Given the description of an element on the screen output the (x, y) to click on. 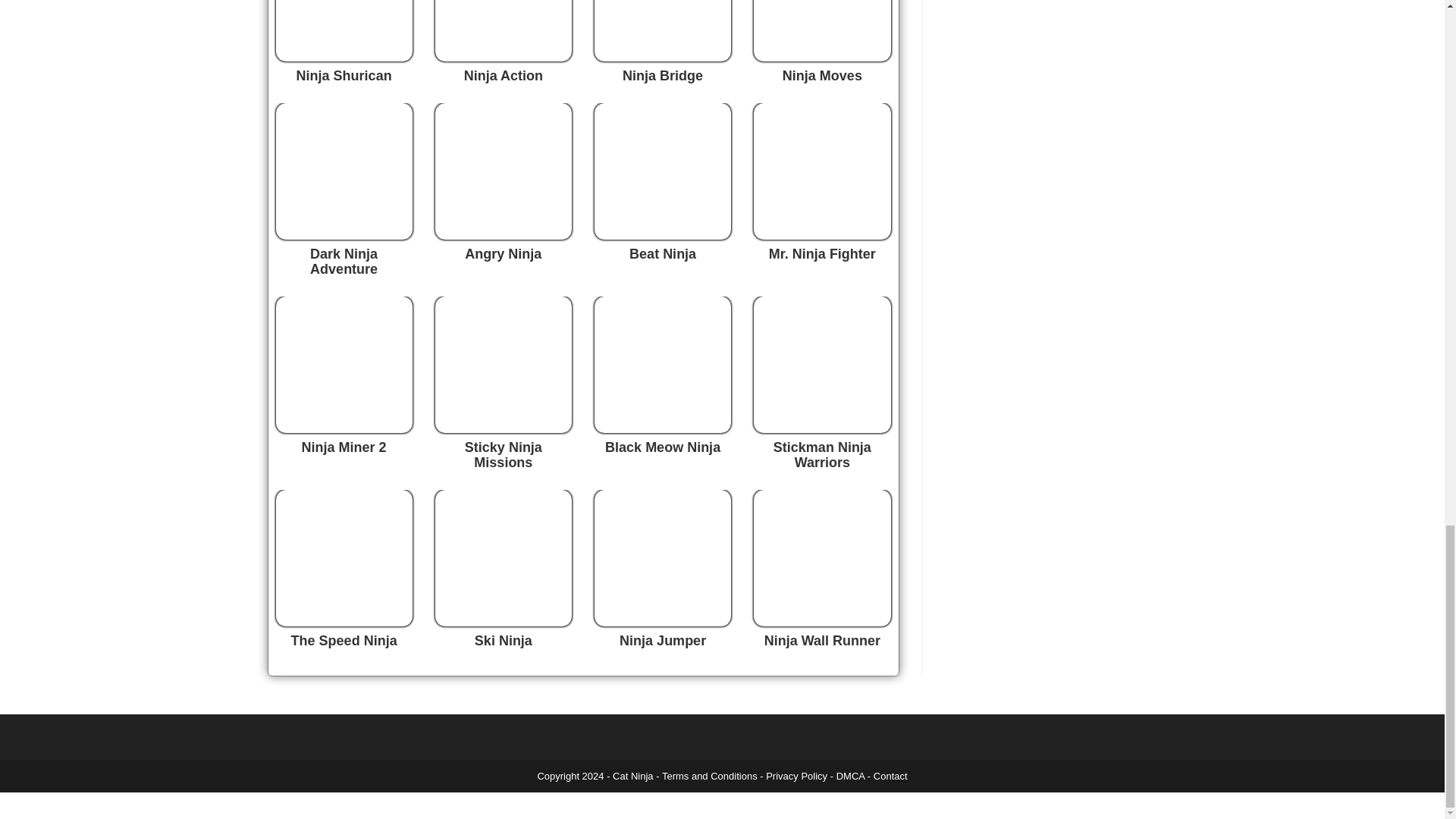
Ninja Shurican (344, 75)
Dark Ninja Adventure (343, 261)
Ninja Bridge (663, 75)
Ninja Moves (822, 75)
Ninja Action (503, 75)
Angry Ninja (502, 253)
